Given the description of an element on the screen output the (x, y) to click on. 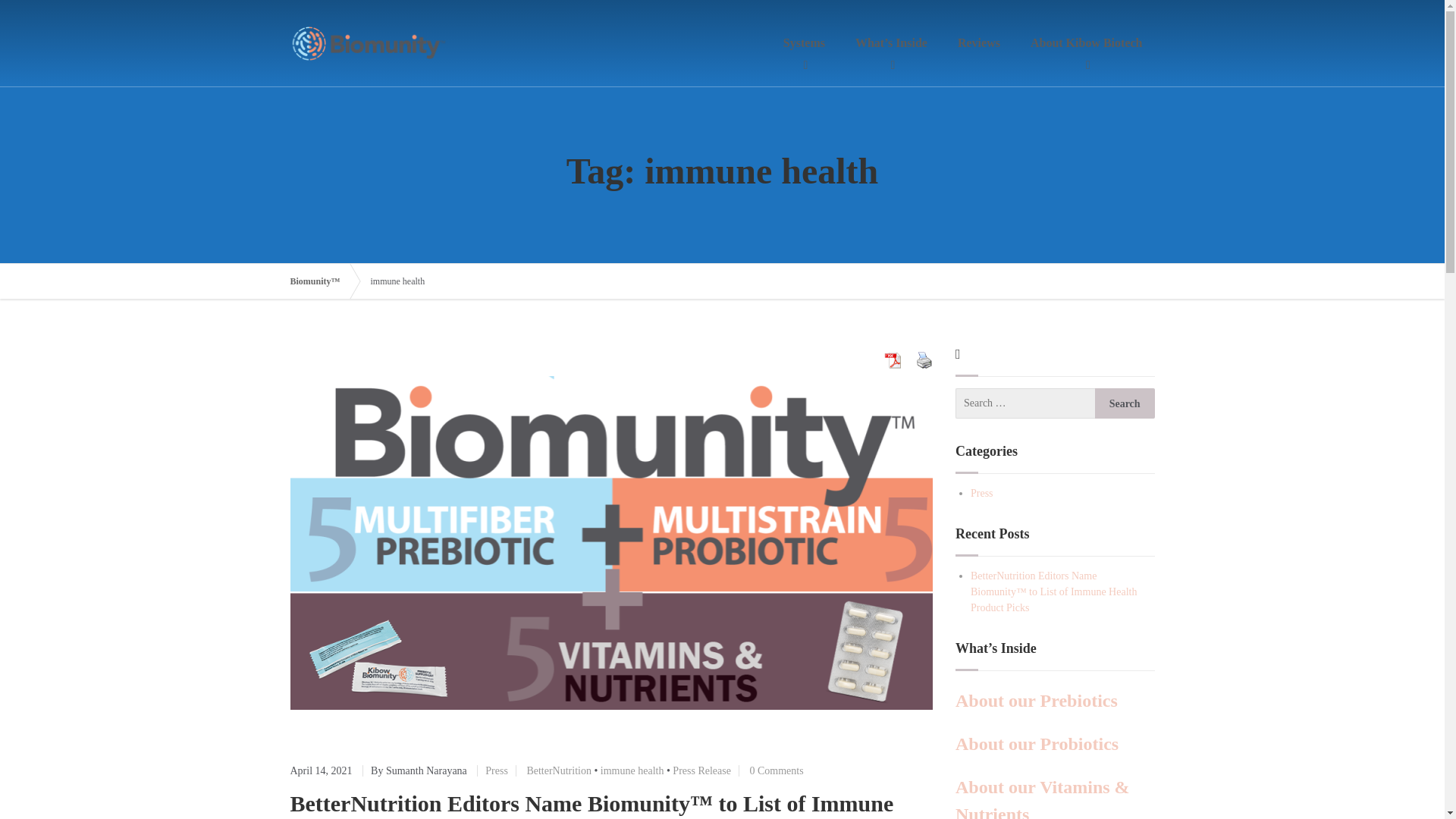
0 Comments (776, 770)
Press (496, 770)
About our Probiotics (1036, 743)
Print Content (924, 360)
About Kibow Biotech (1085, 43)
Search (1124, 403)
View PDF (892, 360)
Search (1124, 403)
About our Prebiotics (1036, 700)
Press (981, 492)
immune health (631, 770)
Press Release (701, 770)
Search (1124, 403)
BetterNutrition (558, 770)
